Given the description of an element on the screen output the (x, y) to click on. 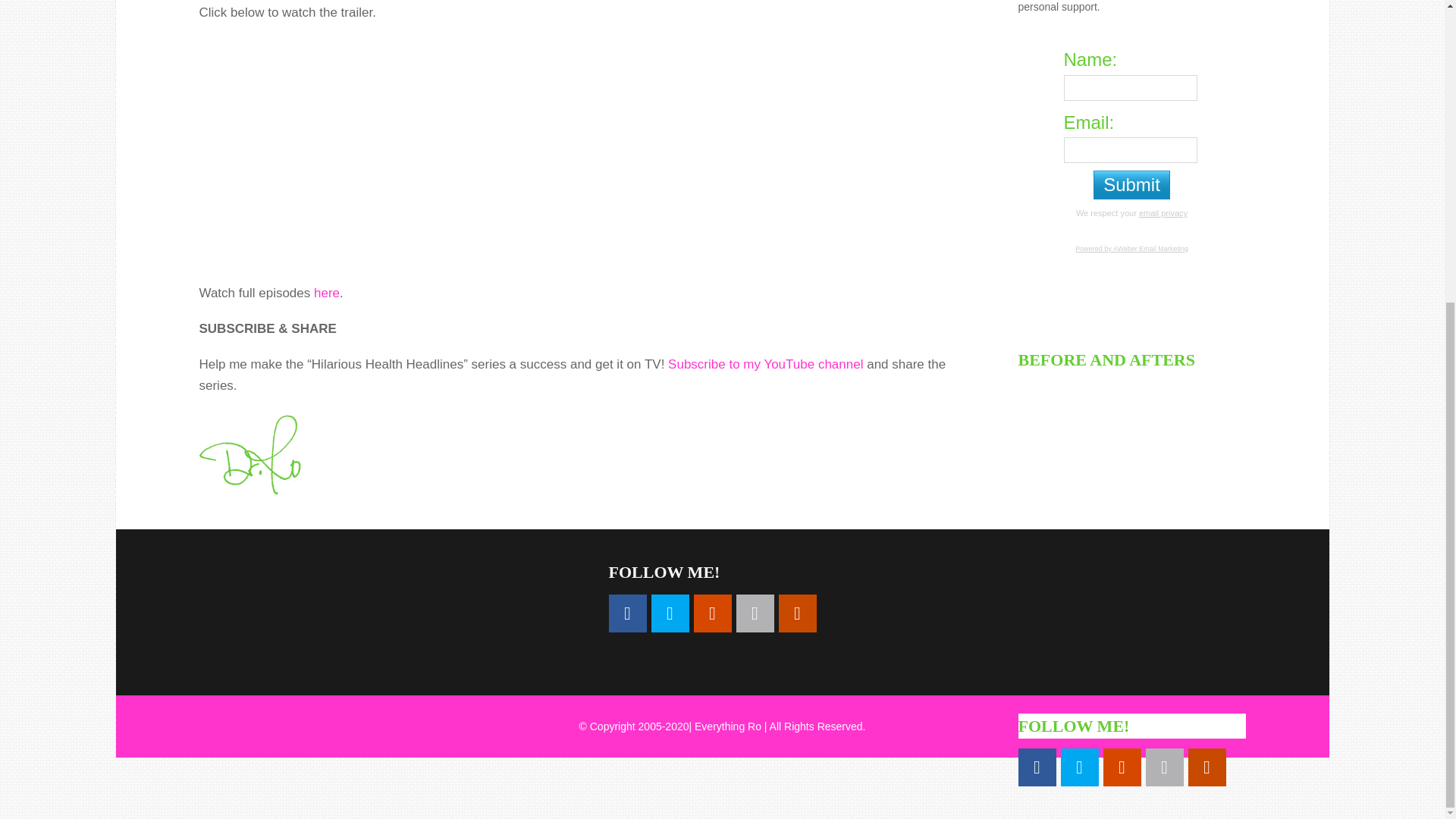
email privacy (1163, 212)
Subscribe to my YouTube channel (765, 364)
Submit (1131, 184)
here (326, 292)
Submit (1131, 184)
Privacy Policy (1163, 212)
Powered by AWeber Email Marketing (1131, 248)
AWeber Email Marketing (1131, 248)
